Given the description of an element on the screen output the (x, y) to click on. 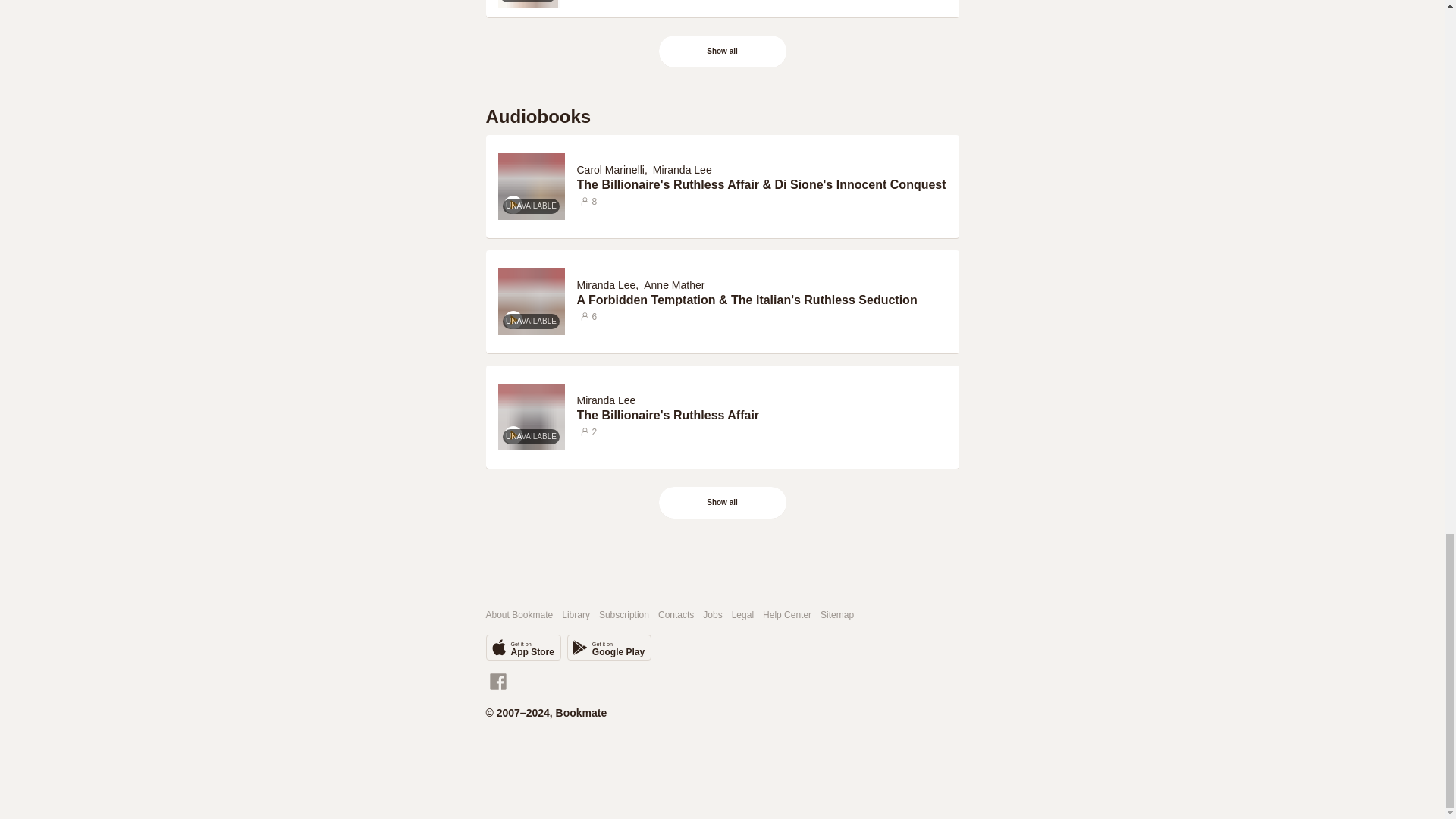
Miranda Lee (605, 399)
Show all (722, 502)
About Bookmate (518, 614)
Miranda Lee (605, 285)
Show all (722, 51)
Anne Mather (673, 285)
Miranda Lee (681, 169)
Carol Marinelli, Miranda Lee (646, 169)
Legal (743, 614)
The Billionaire's Ruthless Affair (761, 415)
